Given the description of an element on the screen output the (x, y) to click on. 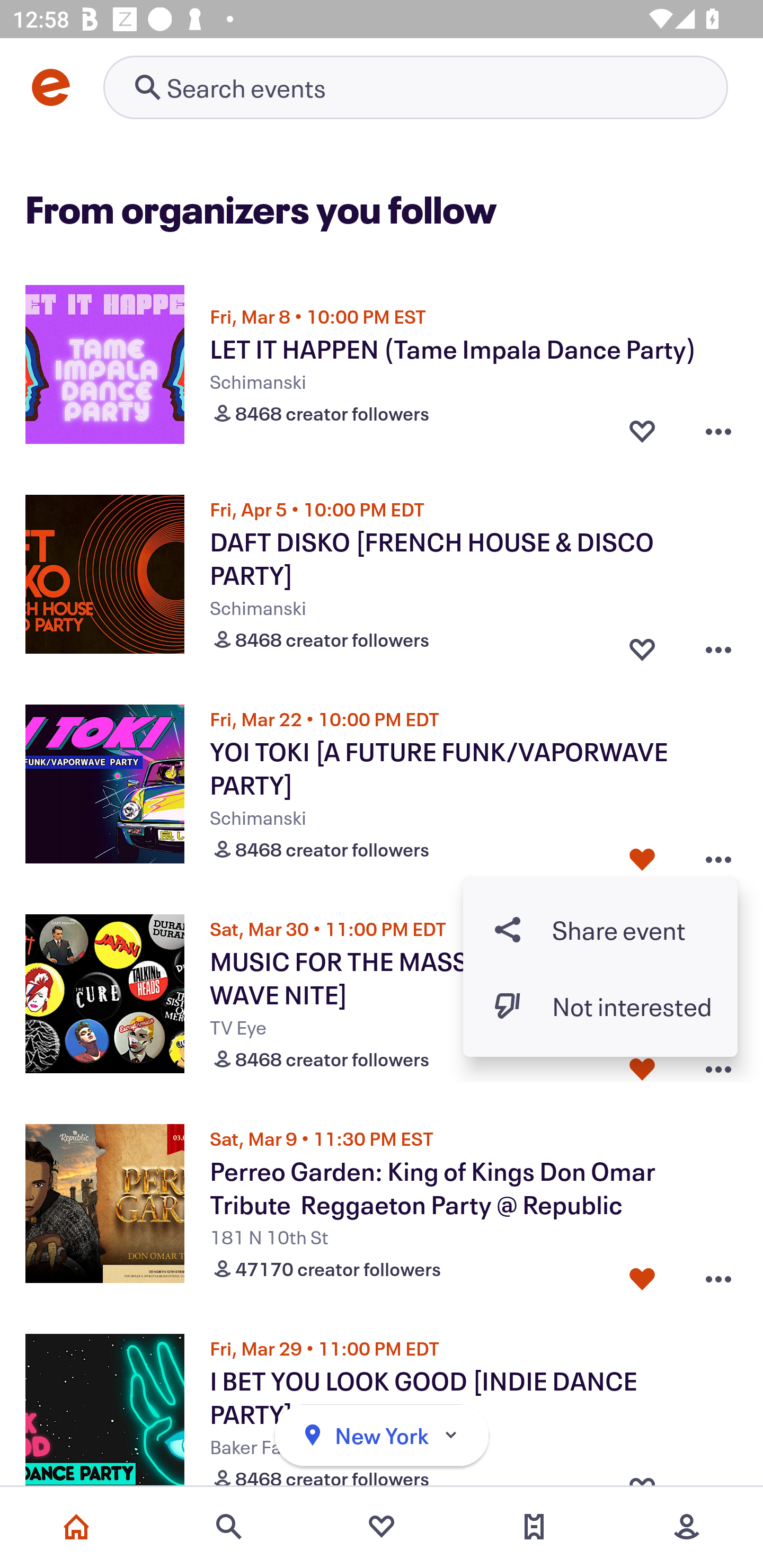
Share button Share event (600, 929)
Dislike event button Not interested (600, 1005)
